Given the description of an element on the screen output the (x, y) to click on. 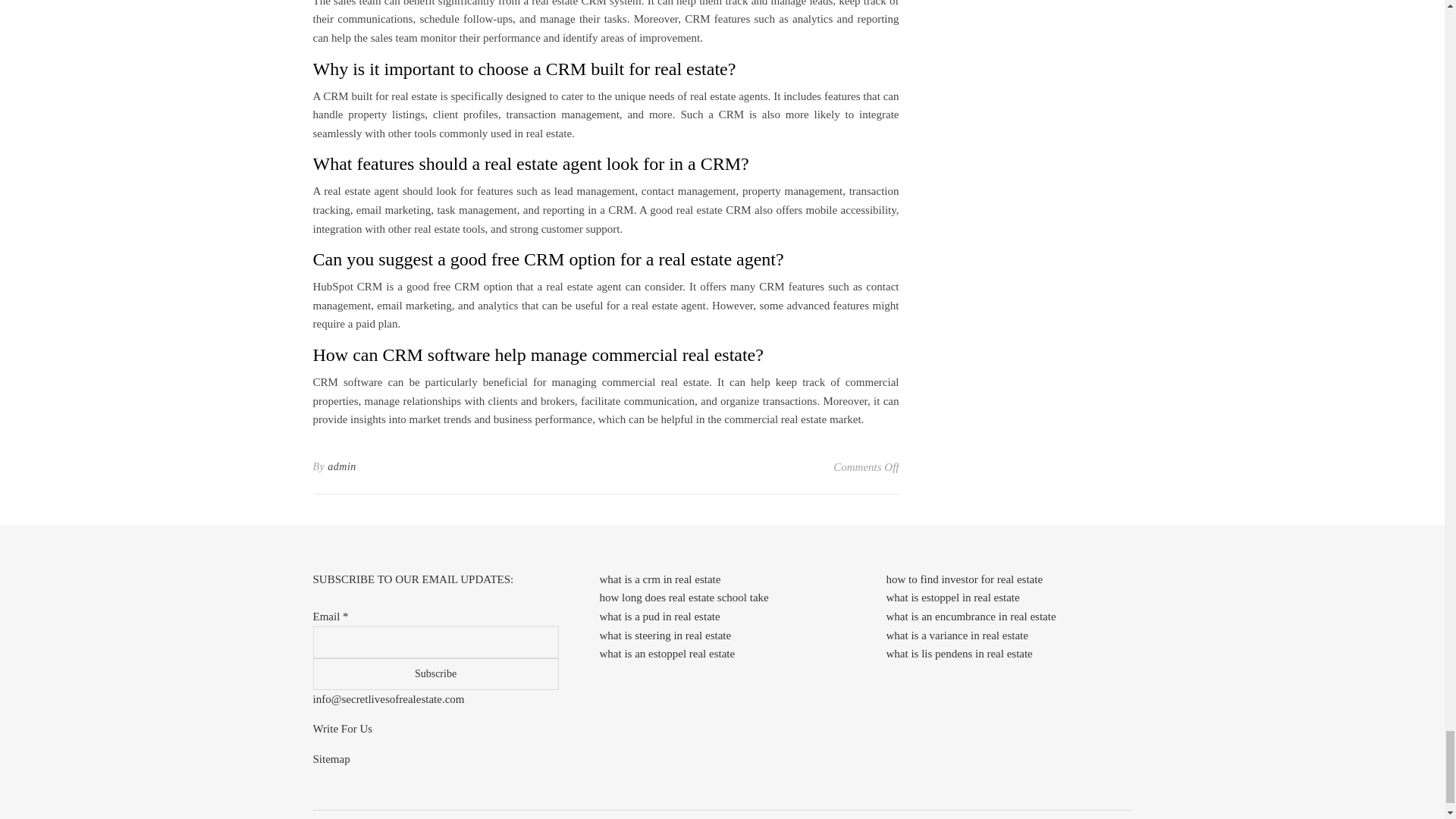
Subscribe (435, 674)
Subscribe (435, 674)
what is estoppel in real estate (952, 597)
Posts by admin (341, 466)
how long does real estate school take (683, 597)
what is an encumbrance in real estate (970, 616)
Sitemap (331, 758)
Write For Us (342, 728)
how to find investor for real estate (963, 579)
what is a crm in real estate (659, 579)
admin (341, 466)
what is lis pendens in real estate (958, 653)
what is steering in real estate (664, 635)
what is a pud in real estate (658, 616)
what is a variance in real estate (956, 635)
